Given the description of an element on the screen output the (x, y) to click on. 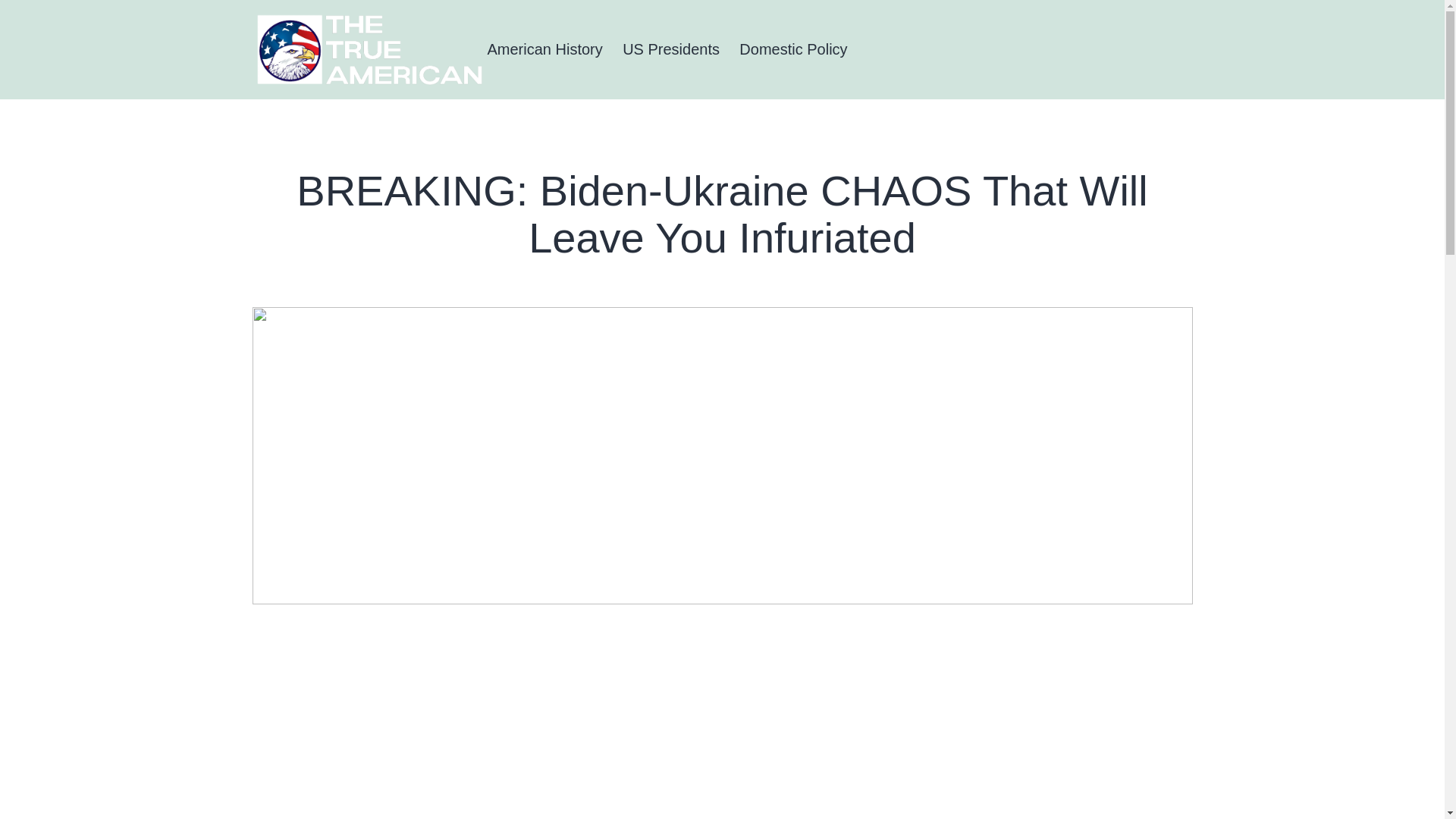
Domestic Policy (793, 49)
American History (544, 49)
US Presidents (670, 49)
